Given the description of an element on the screen output the (x, y) to click on. 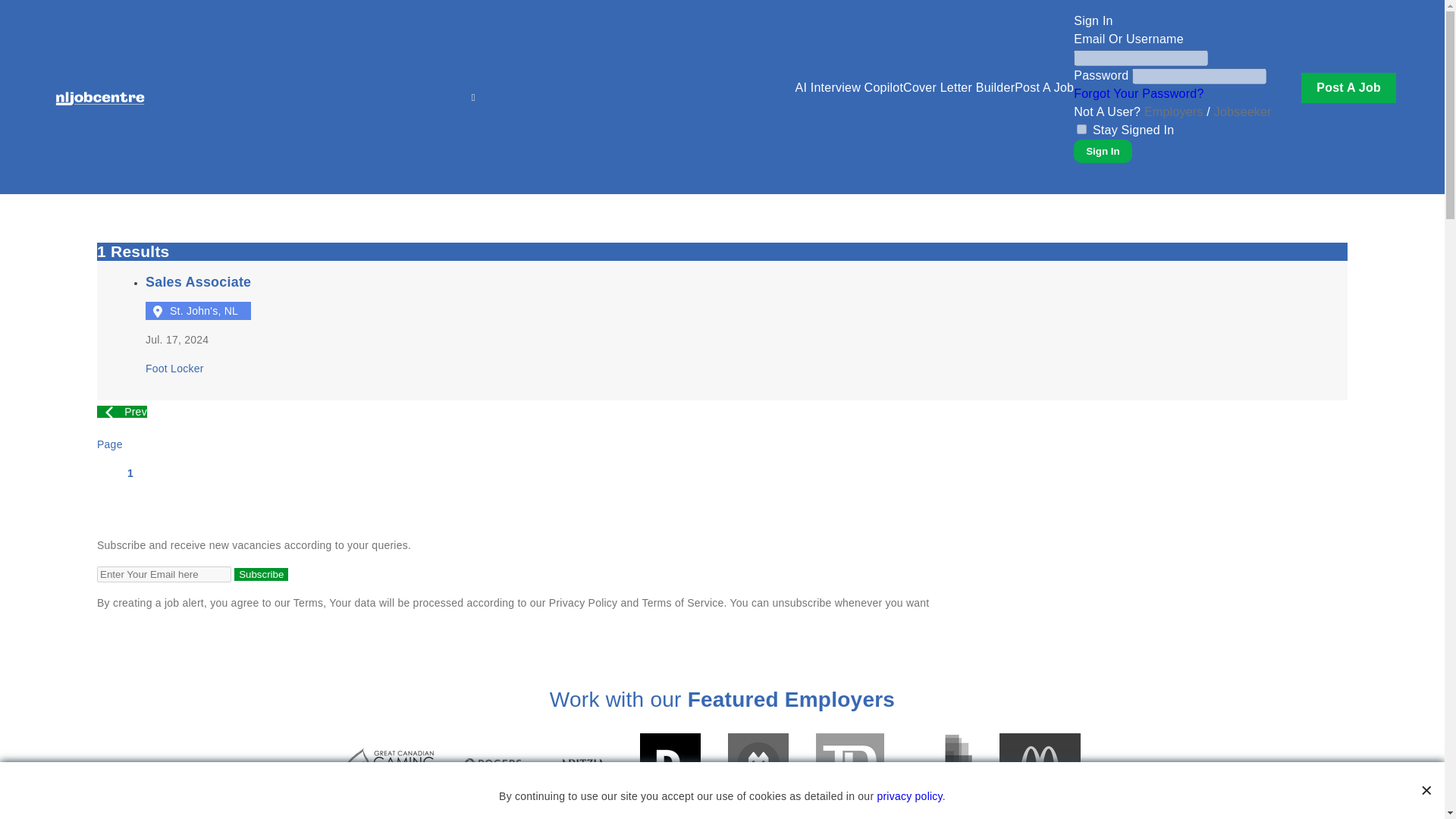
Jobseeker (1242, 111)
AI Interview Copilot (848, 87)
Post A Job (1044, 87)
Employers (1174, 111)
Sales Associate (197, 324)
Cover Letter Builder (958, 87)
Post A Job (1348, 86)
Sign In (197, 324)
Subscribe (1102, 150)
Terms of Service. (261, 574)
Forgot Your Password? (684, 603)
true (1139, 92)
Privacy Policy (1081, 129)
privacy policy (582, 603)
